Given the description of an element on the screen output the (x, y) to click on. 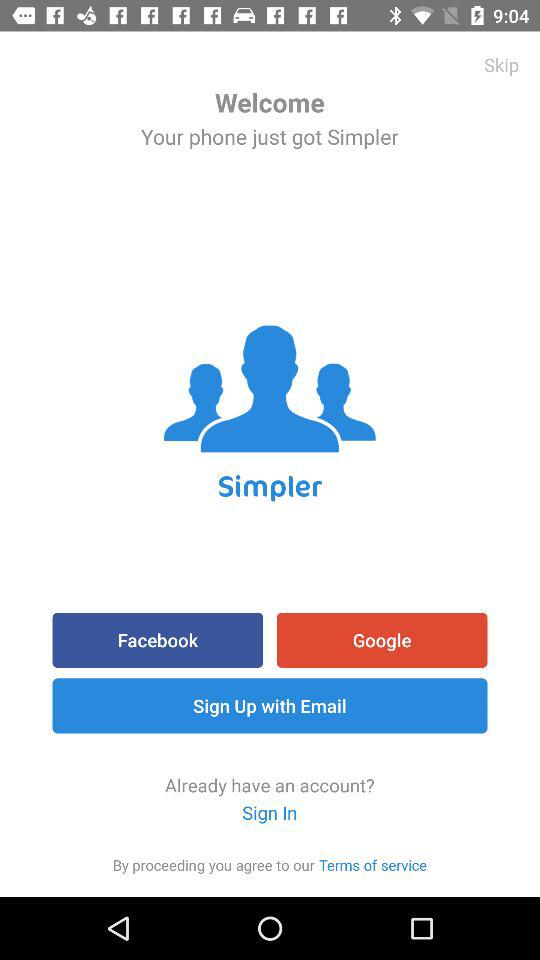
launch the item next to   item (373, 864)
